Given the description of an element on the screen output the (x, y) to click on. 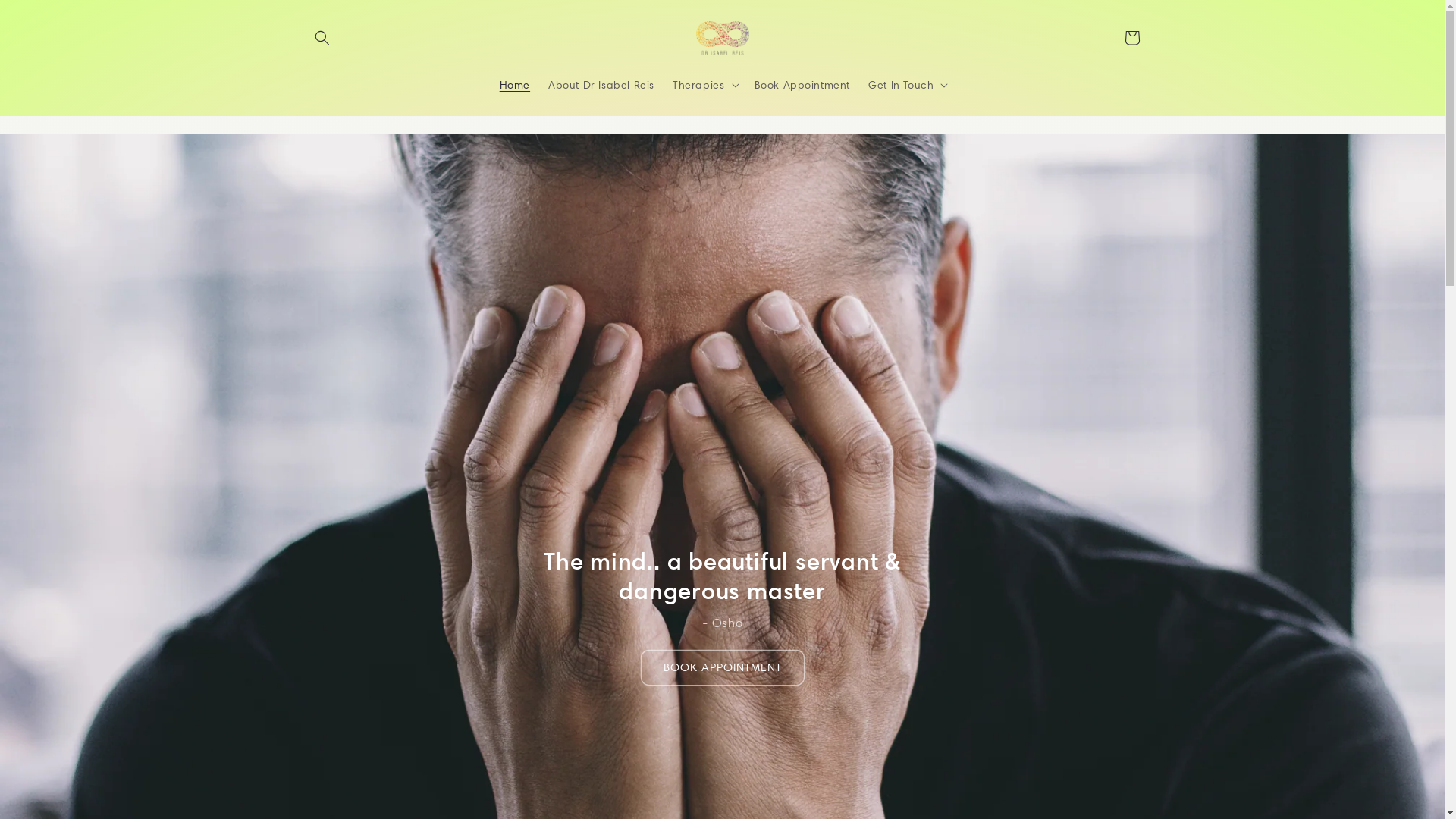
Cart Element type: text (1131, 37)
BOOK APPOINTMENT Element type: text (721, 667)
About Dr Isabel Reis Element type: text (601, 84)
Home Element type: text (514, 84)
Book Appointment Element type: text (801, 84)
